Given the description of an element on the screen output the (x, y) to click on. 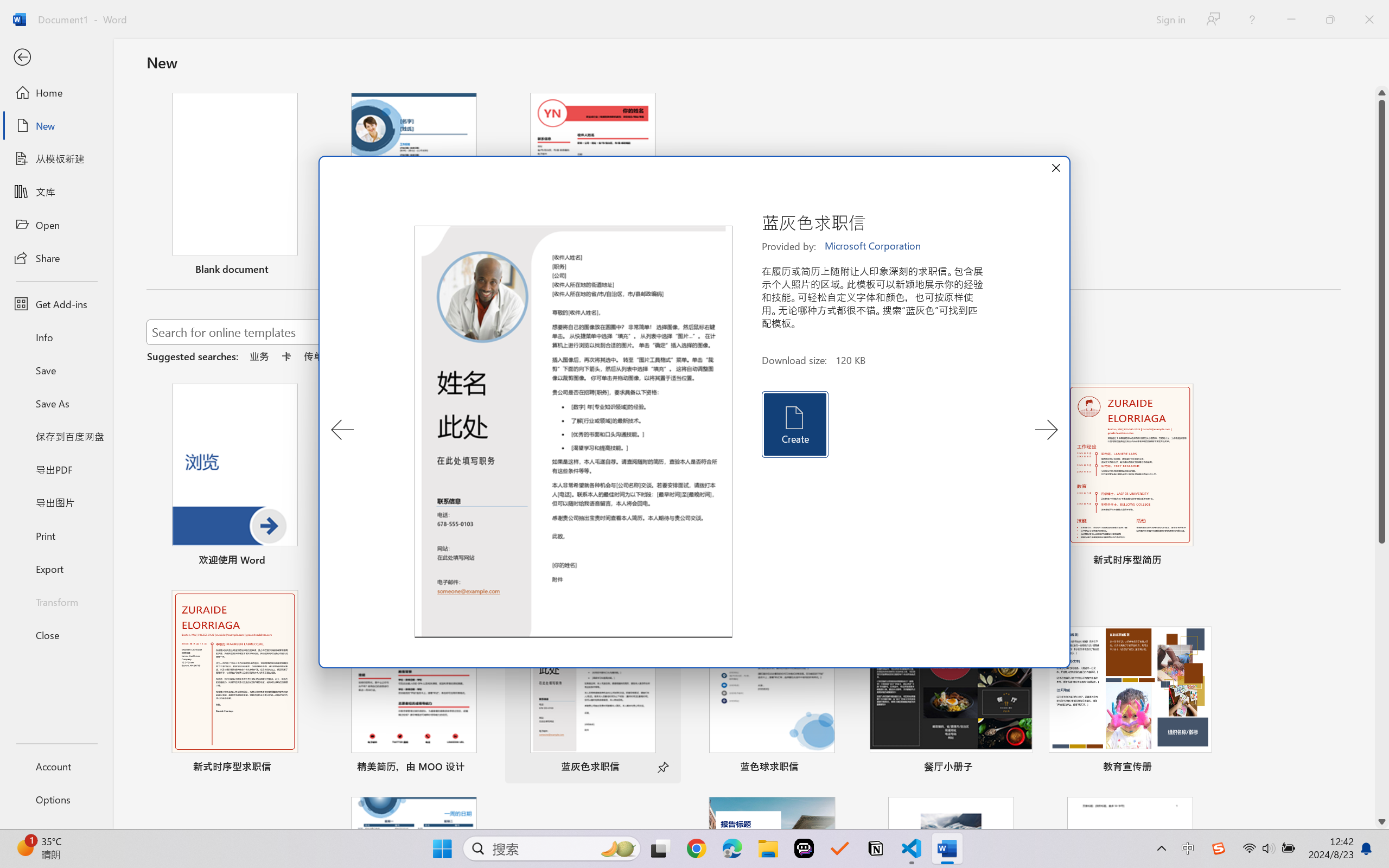
PDD Holdings Inc - ADR (PDD) Price & News - Google Finance (389, 12)
Privacy Checkup (560, 12)
Apps (174, 71)
Privacy Checkup (617, 12)
